Given the description of an element on the screen output the (x, y) to click on. 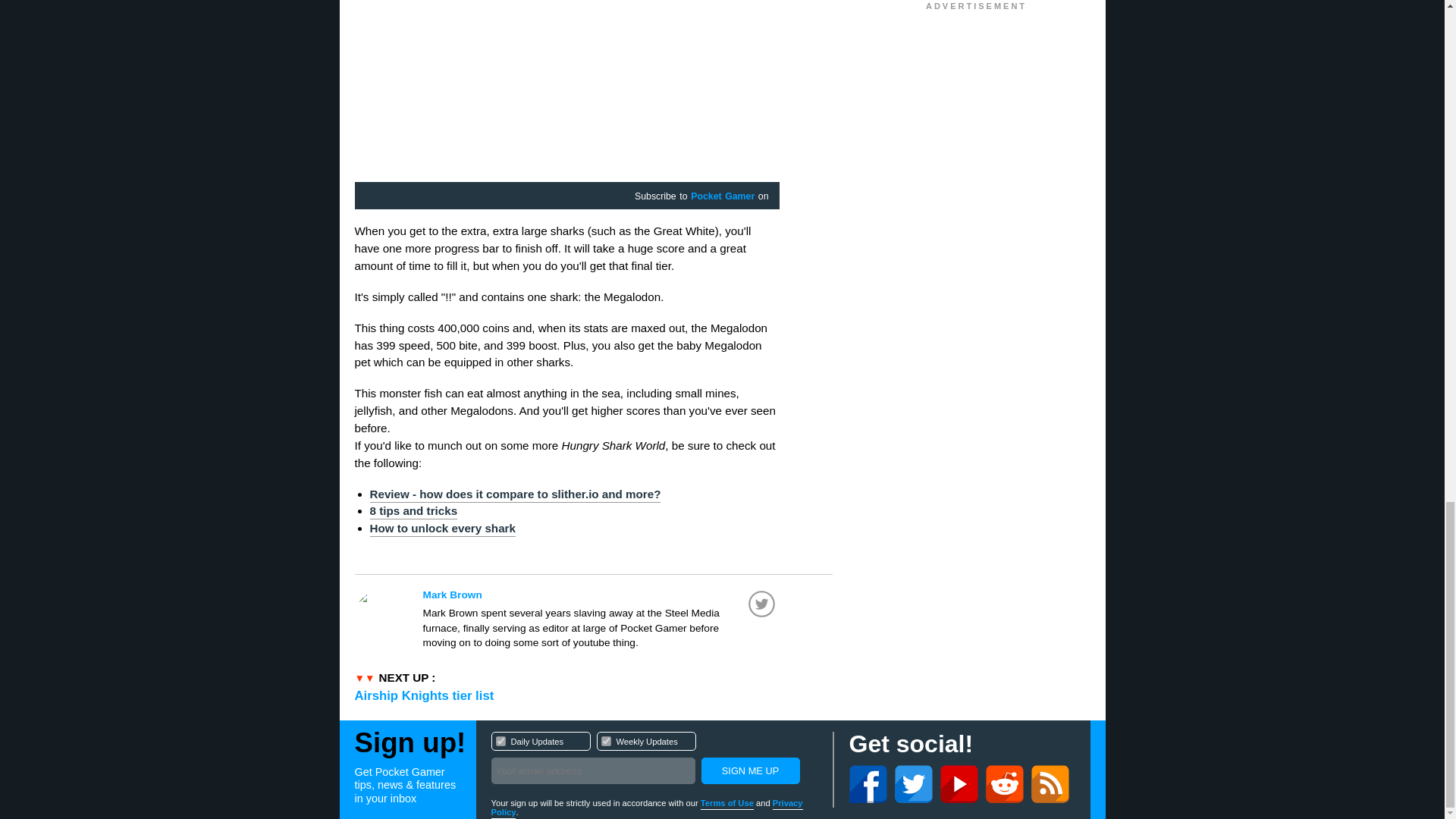
Pocket Gamer (722, 196)
8 tips and tricks (413, 511)
Review - how does it compare to slither.io and more? (654, 759)
How to unlock every shark (515, 494)
Airship Knights tier list (442, 529)
1 (425, 695)
Sign Me Up (500, 741)
Mark Brown (749, 770)
2 (600, 594)
